Given the description of an element on the screen output the (x, y) to click on. 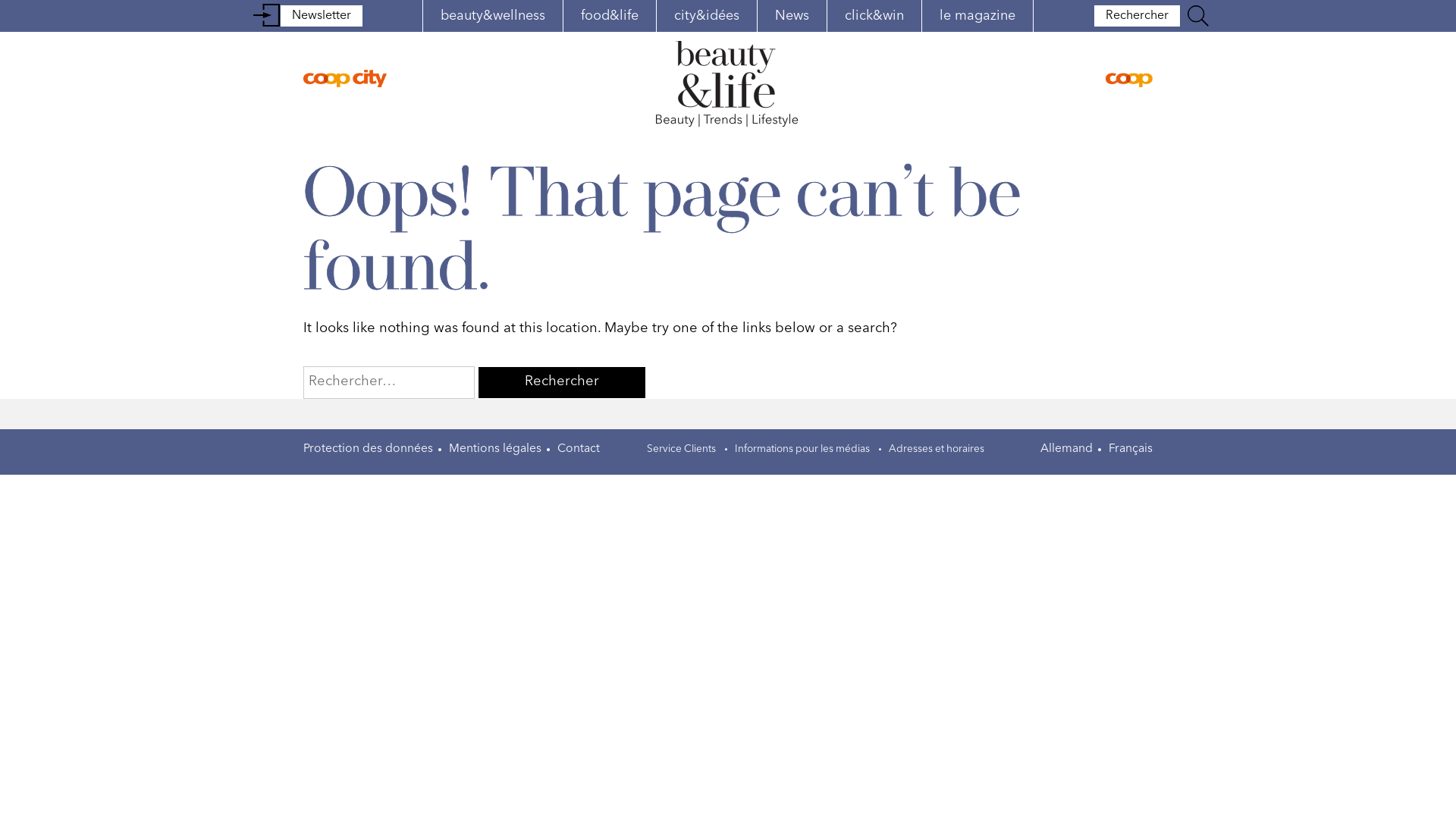
Newsletter Element type: text (321, 15)
Contact Element type: text (578, 448)
Rechercher Element type: text (561, 382)
food&life Element type: text (609, 15)
Allemand Element type: text (1066, 448)
Service Clients Element type: text (680, 449)
News Element type: text (791, 15)
le magazine Element type: text (977, 15)
Adresses et horaires Element type: text (936, 449)
click&win Element type: text (874, 15)
beauty&wellness Element type: text (492, 15)
Rechercher Element type: text (1136, 15)
